Given the description of an element on the screen output the (x, y) to click on. 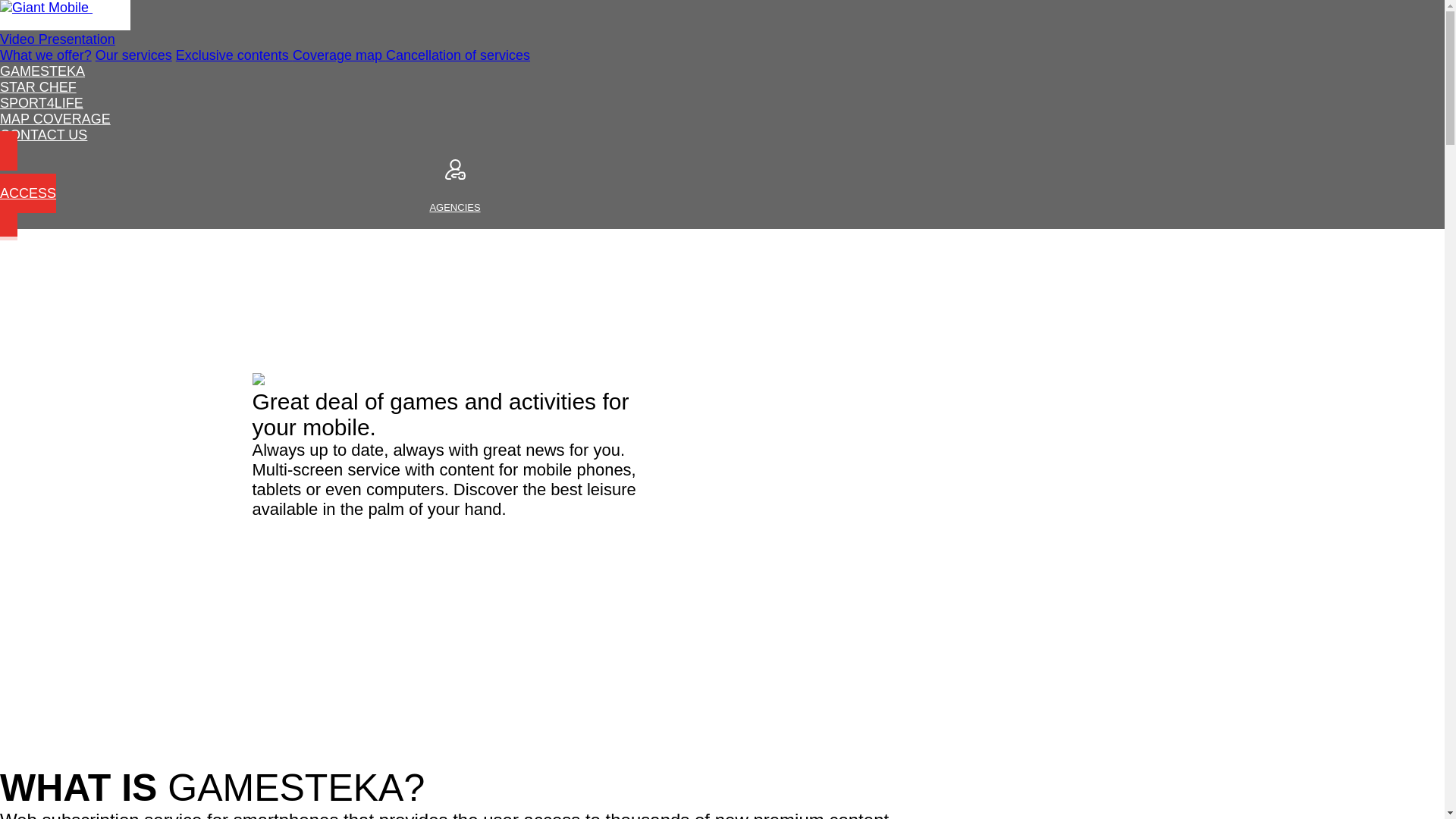
Video Presentation (57, 38)
Coverage map (338, 55)
CONTACT US (455, 185)
Cancellation of services (43, 134)
What we offer? (457, 55)
GAMESTEKA (45, 55)
SPORT4LIFE (42, 70)
CONTACT US (41, 102)
GAMESTEKA (43, 134)
MAP COVERAGE (42, 70)
STAR CHEF (55, 118)
GET TO KNOW US (38, 87)
Our services (59, 23)
STAR CHEF (133, 55)
